Given the description of an element on the screen output the (x, y) to click on. 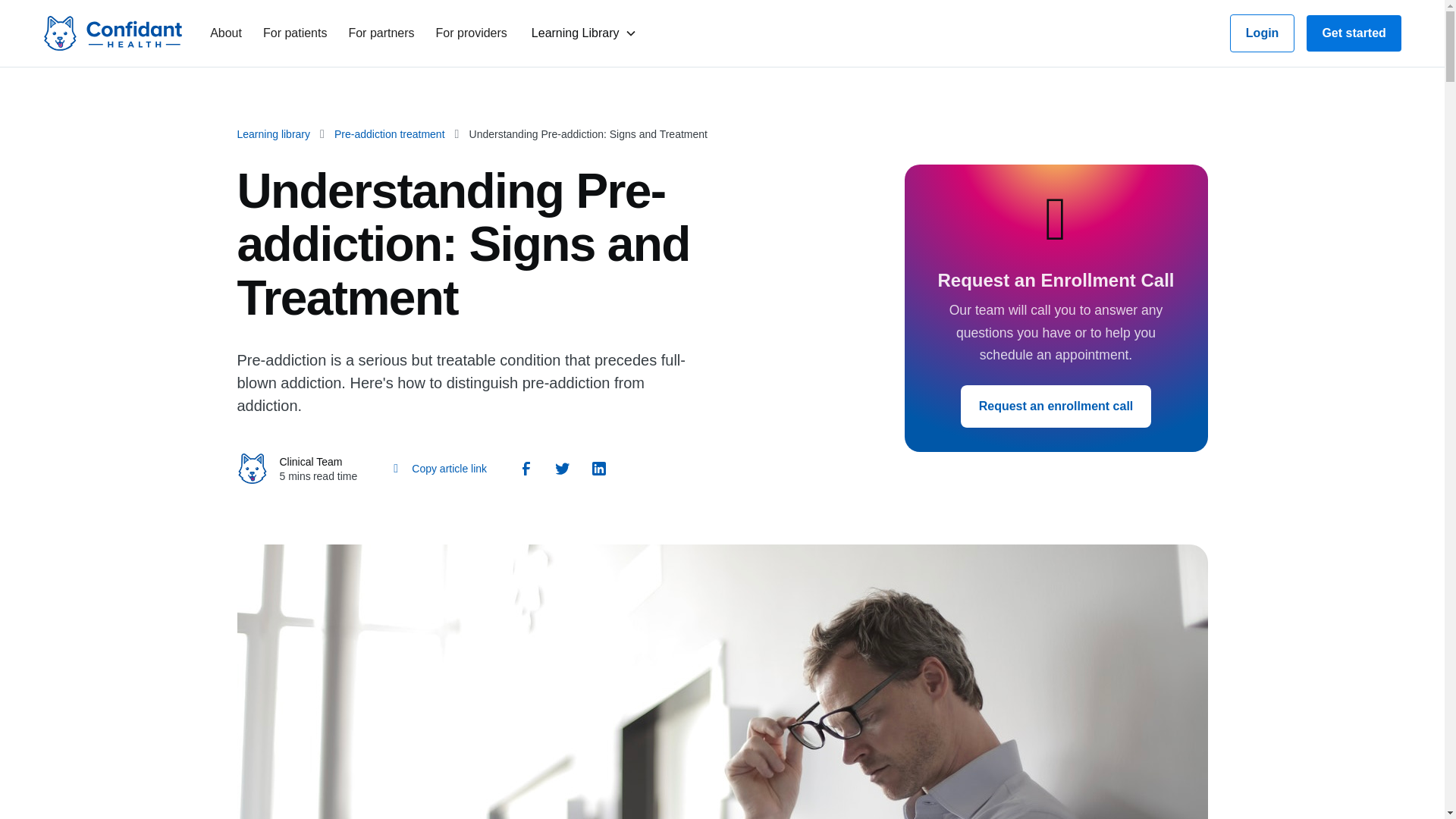
Get started (1353, 33)
For providers (472, 33)
Learning library (272, 133)
Login (1262, 33)
Pre-addiction treatment (389, 133)
Clinical Team (310, 461)
For partners (382, 33)
For patients (296, 33)
Learning Library (575, 33)
Request an enrollment call (1055, 405)
